Given the description of an element on the screen output the (x, y) to click on. 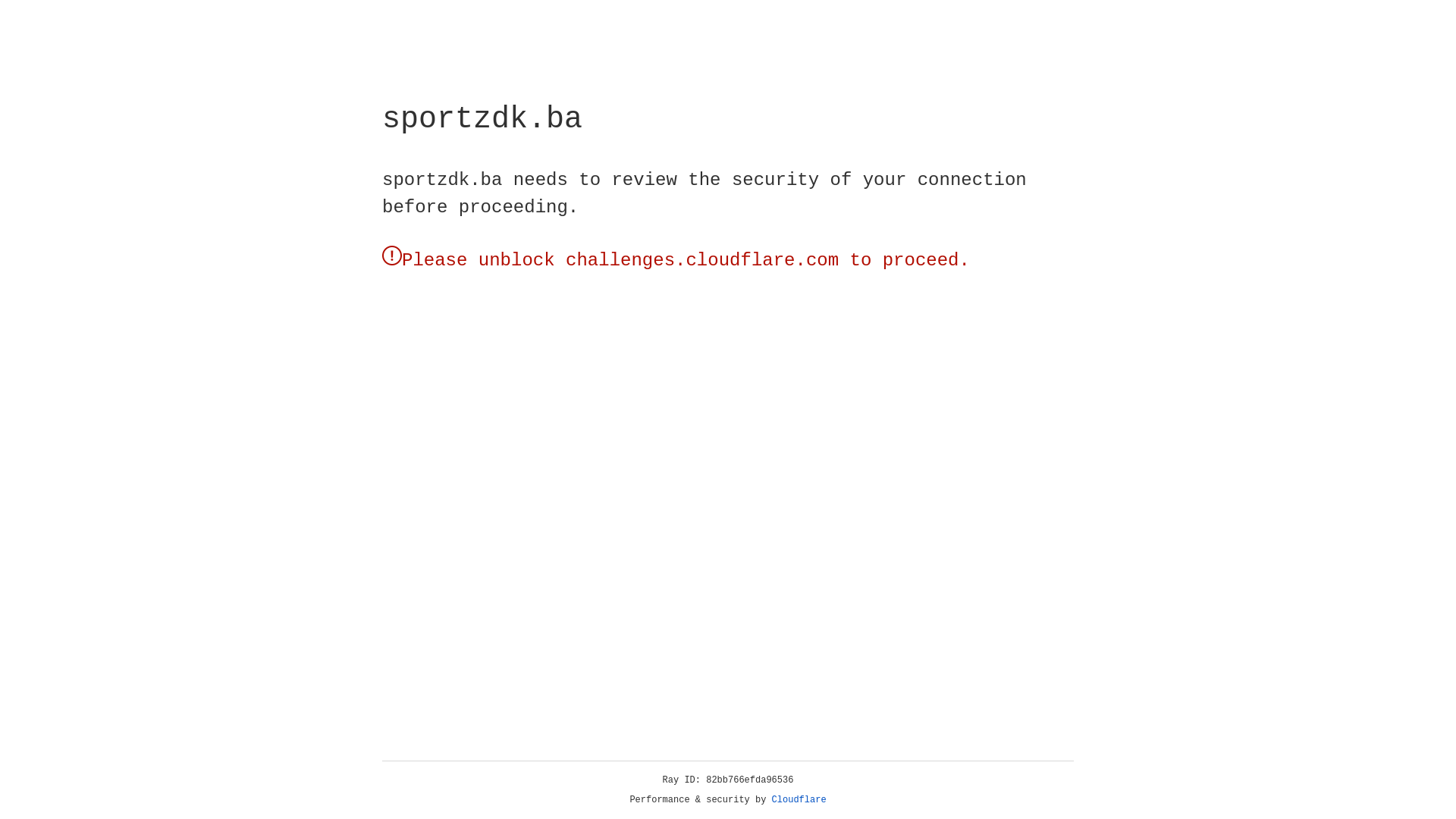
Cloudflare Element type: text (798, 799)
